Given the description of an element on the screen output the (x, y) to click on. 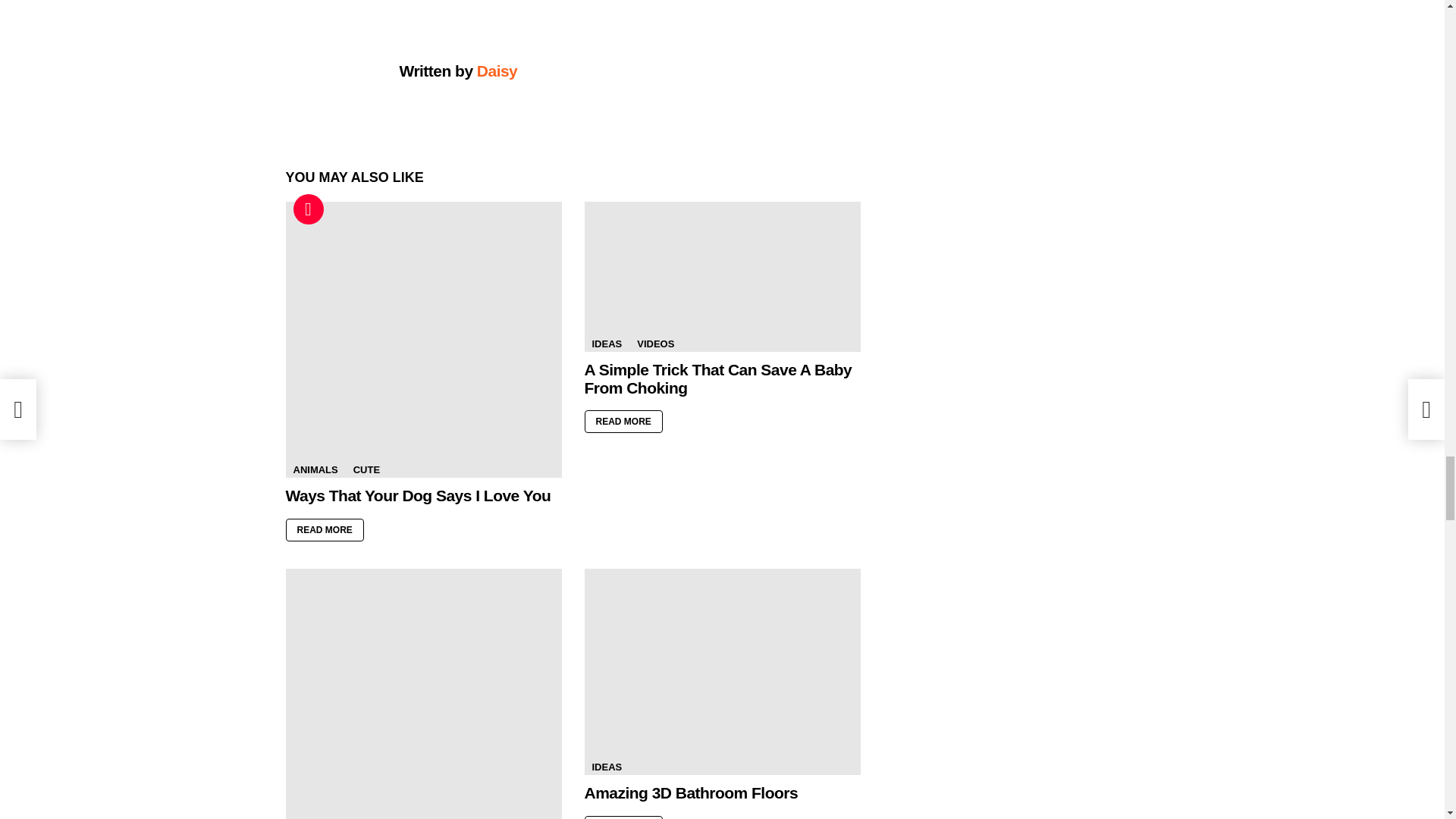
Ways That Your Dog Says I Love You (422, 339)
Innovative And Amazing Images (422, 693)
Hot (307, 209)
A Simple Trick That Can Save A Baby From Choking (721, 276)
Amazing 3D Bathroom Floors (721, 671)
